Given the description of an element on the screen output the (x, y) to click on. 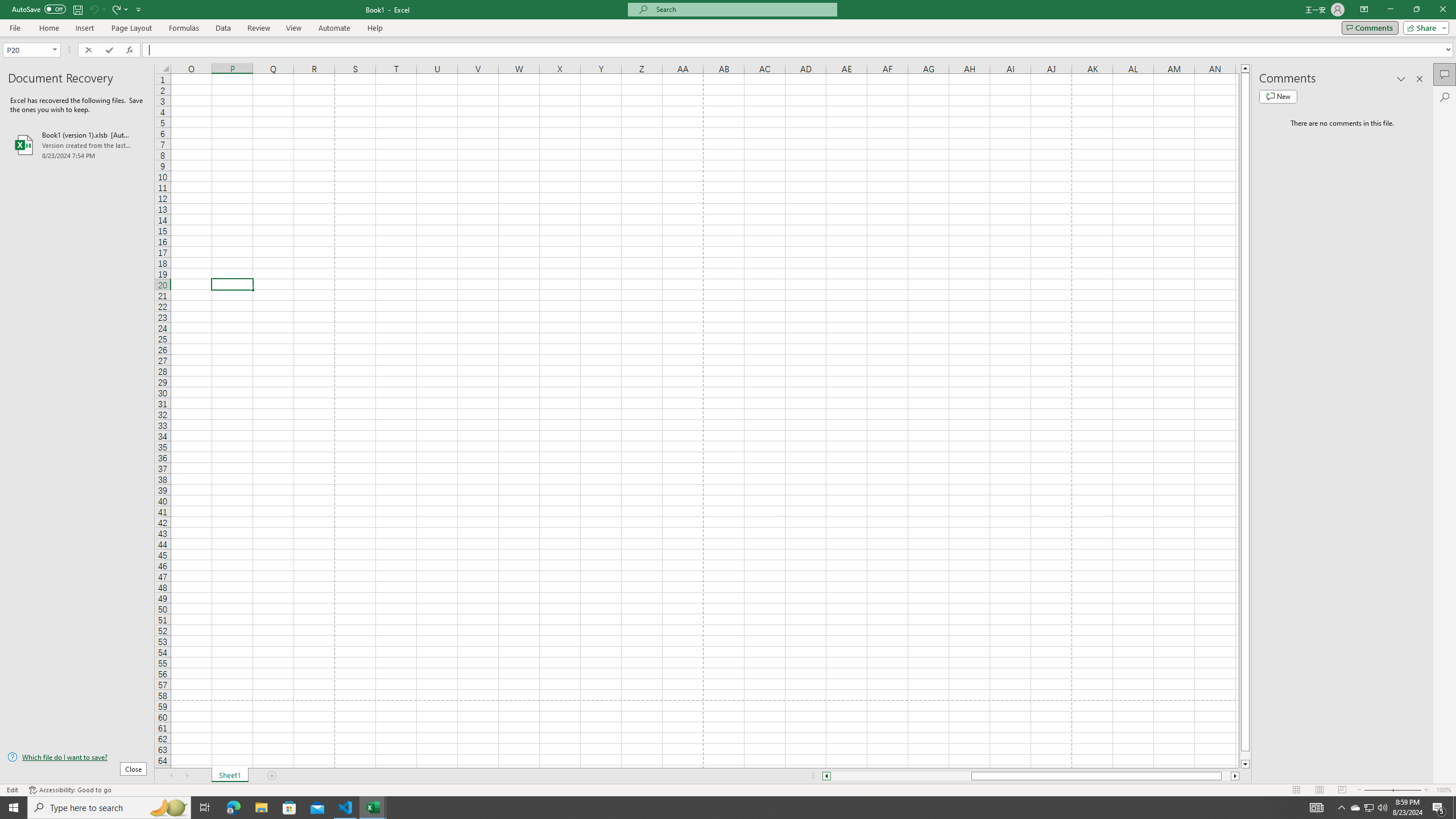
New comment (1278, 96)
